Given the description of an element on the screen output the (x, y) to click on. 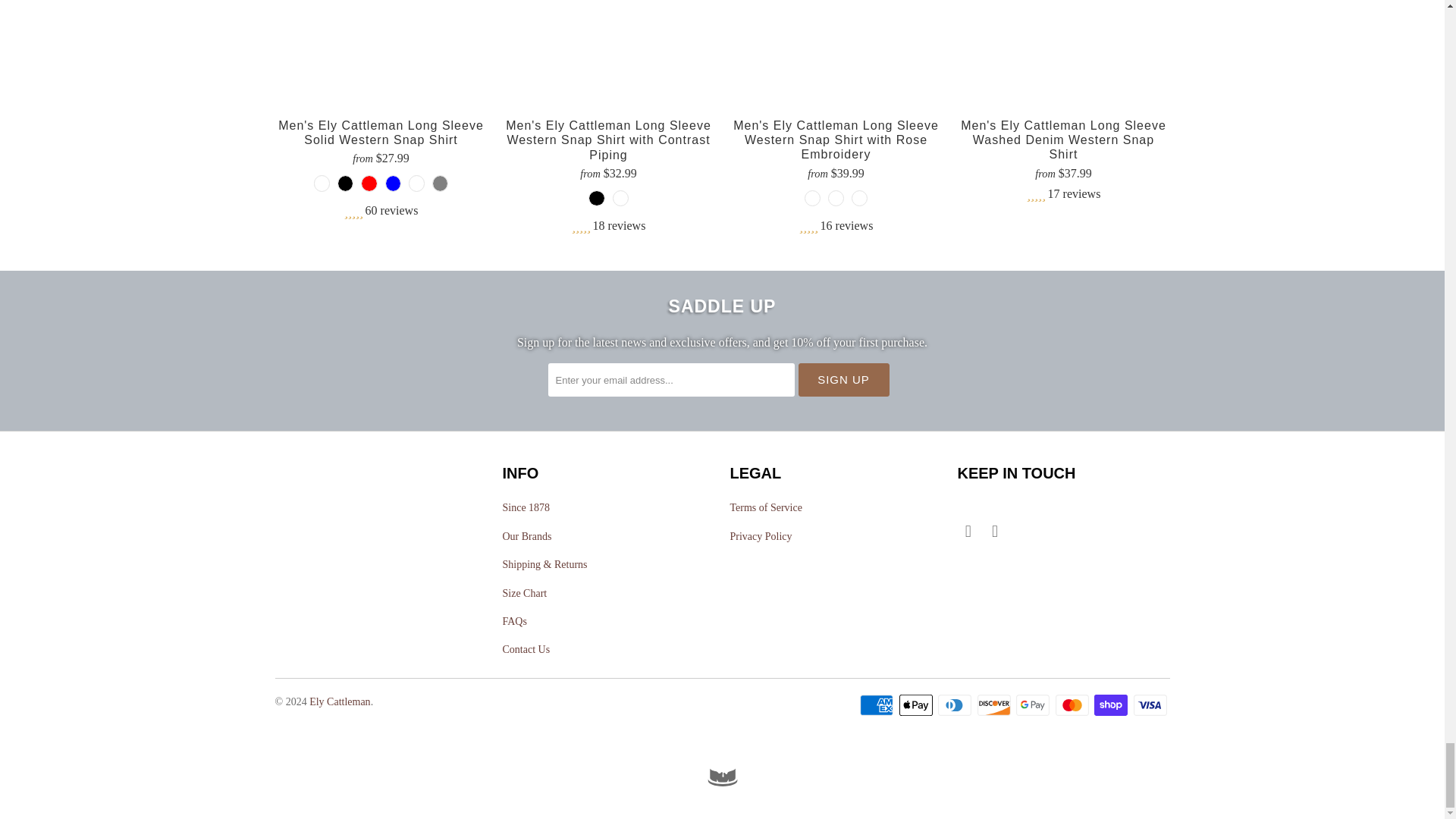
Enter your email address... (670, 379)
Google Pay (1034, 704)
Apple Pay (917, 704)
Ely Cattleman on Instagram (995, 531)
Sign Up (842, 379)
Shop Pay (1112, 704)
Discover (994, 704)
Ely Cattleman on Facebook (967, 531)
Mastercard (1073, 704)
American Express (878, 704)
